Given the description of an element on the screen output the (x, y) to click on. 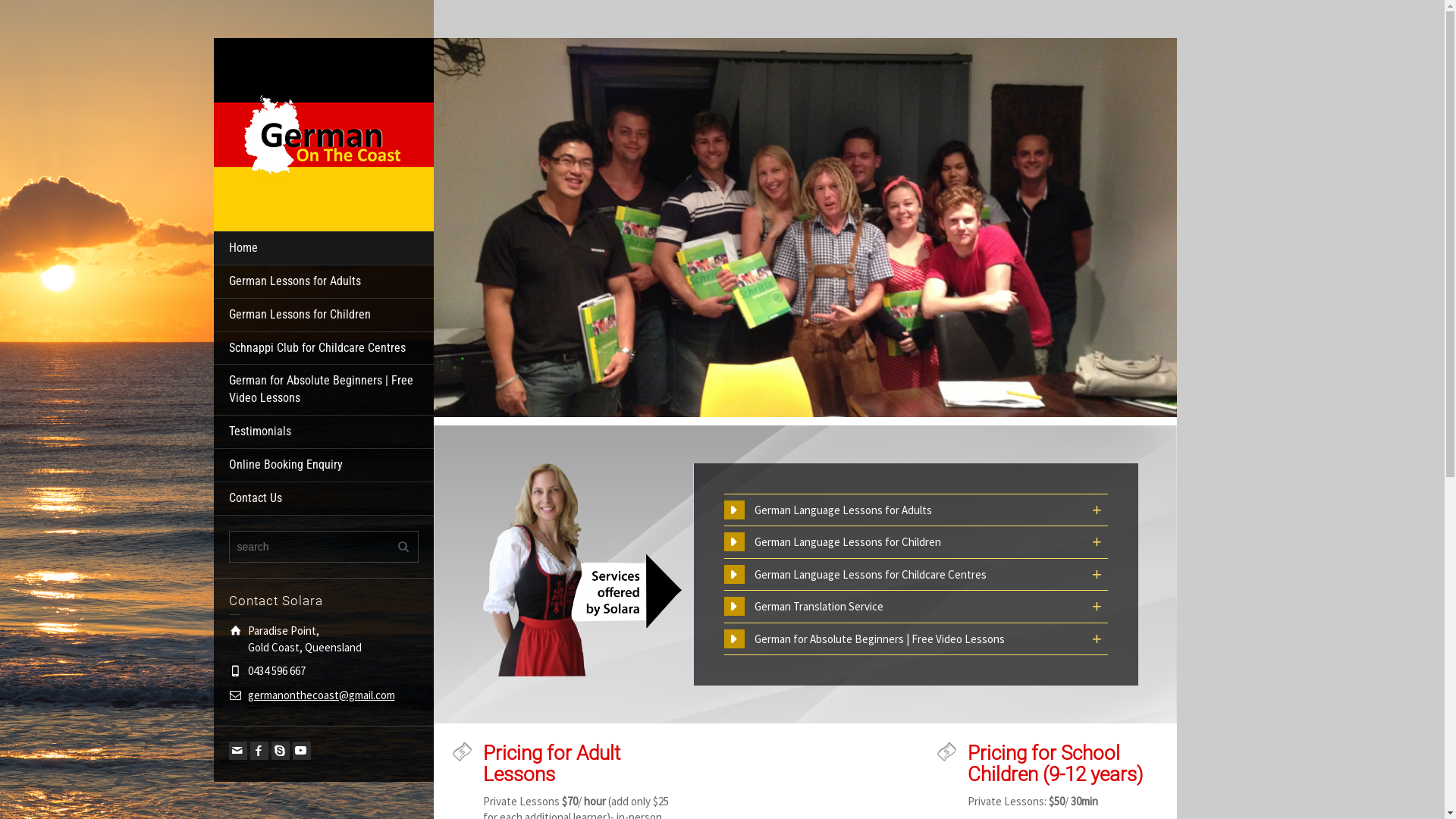
German Lessons for Adults Element type: text (323, 281)
Email Element type: hover (238, 750)
Contact Us Element type: text (323, 498)
Facebook Element type: hover (259, 750)
German Lessons for Children Element type: text (323, 315)
Learn German on the Gold Coast Element type: hover (323, 132)
Schnappi Club for Childcare Centres Element type: text (323, 348)
Testimonials Element type: text (323, 431)
Skype Element type: hover (280, 750)
Online Booking Enquiry Element type: text (323, 465)
German for Absolute Beginners | Free Video Lessons Element type: text (323, 389)
Home Element type: text (323, 248)
YouTube Element type: hover (301, 750)
germanonthecoast@gmail.com Element type: text (320, 694)
